Given the description of an element on the screen output the (x, y) to click on. 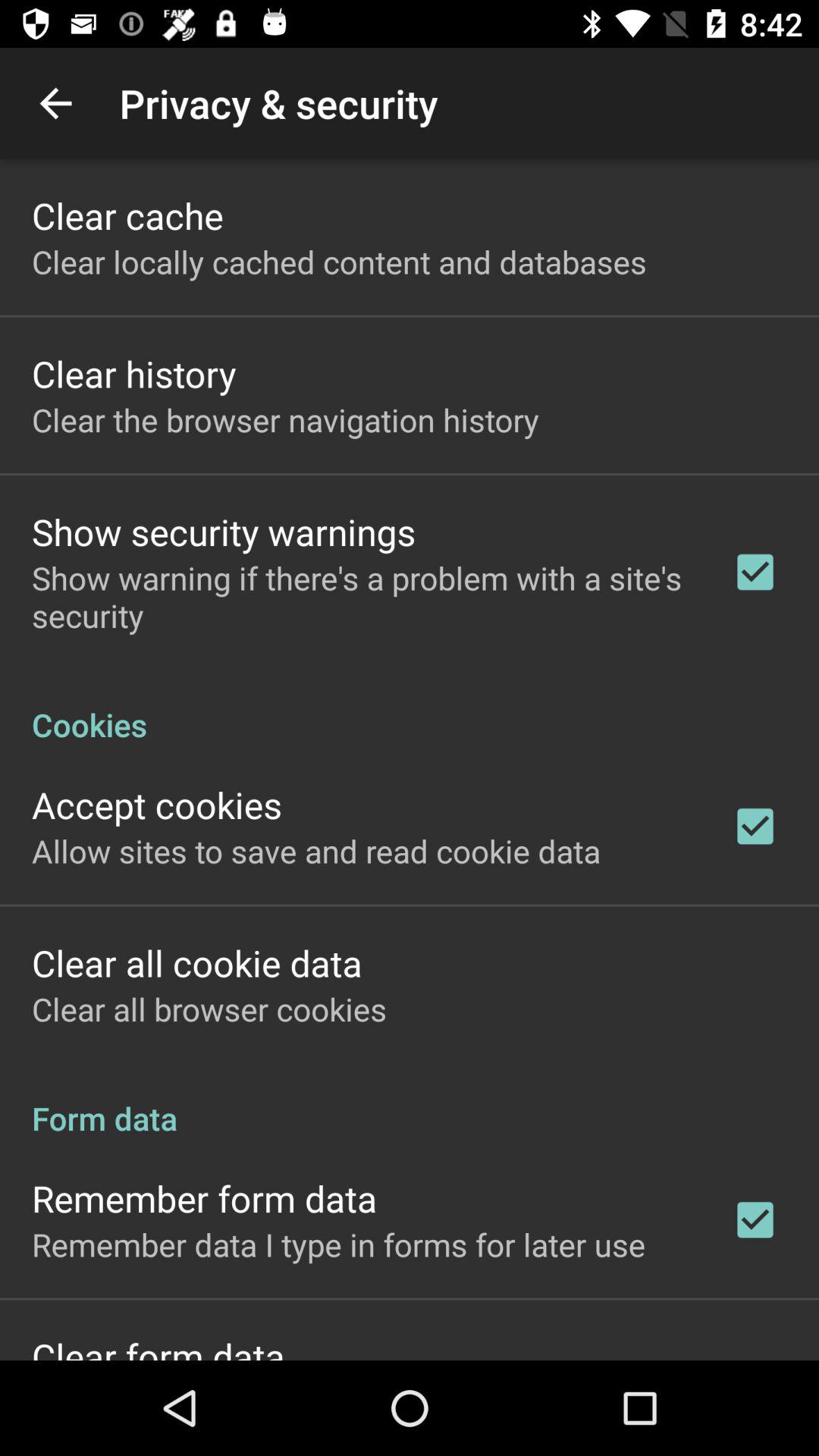
turn off icon above the cookies app (361, 596)
